Given the description of an element on the screen output the (x, y) to click on. 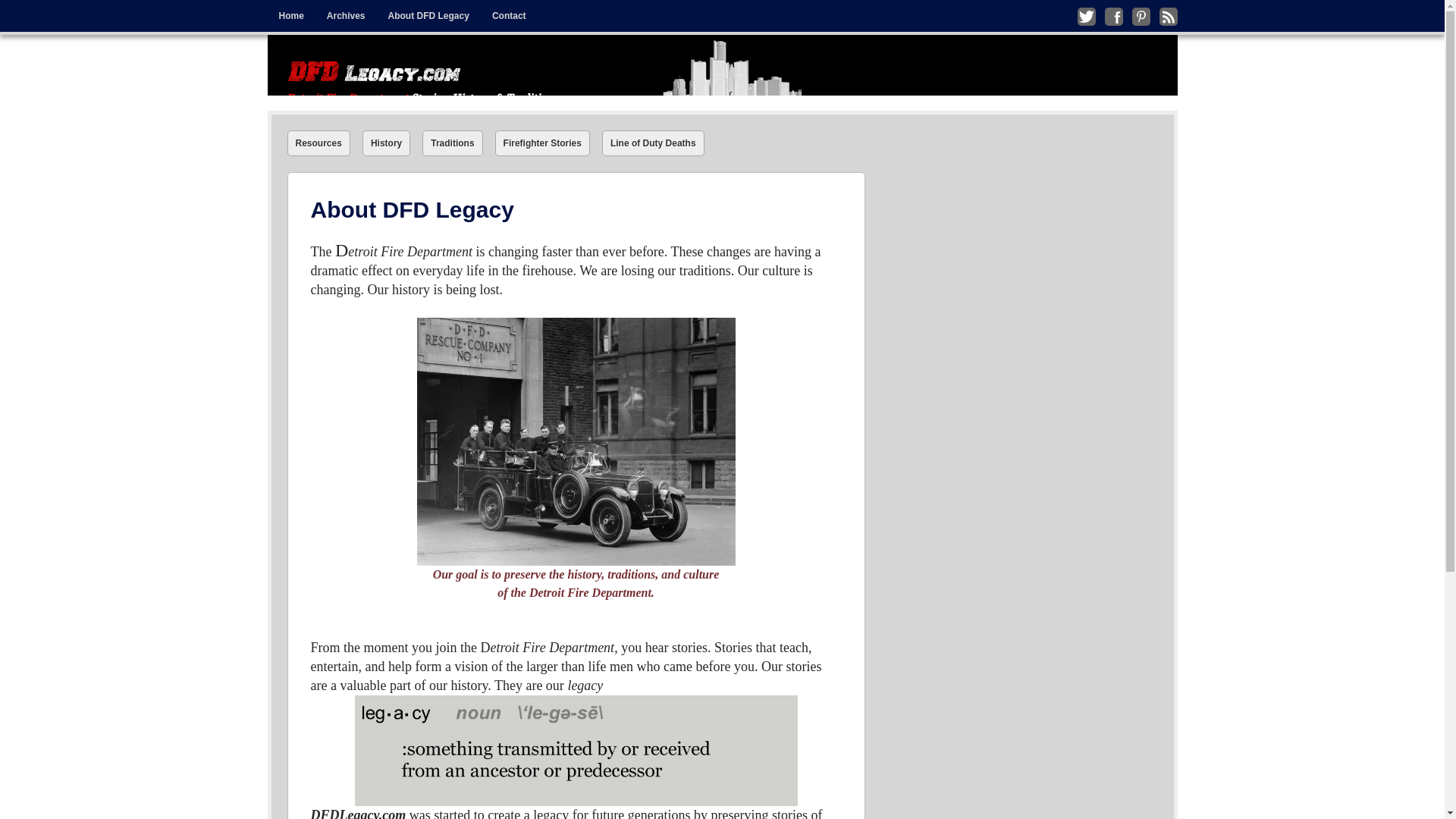
Firefighter Stories (542, 143)
About DFD Legacy (428, 15)
Subscribe to my RSS Feed (1167, 16)
Skip to content (299, 10)
Contact (508, 15)
Follow me on Twitter (1085, 16)
legacy box jpeg (576, 750)
Like me on Facebook (1112, 16)
Line of Duty Deaths (653, 143)
Follow me on Pinterest (1140, 16)
